Given the description of an element on the screen output the (x, y) to click on. 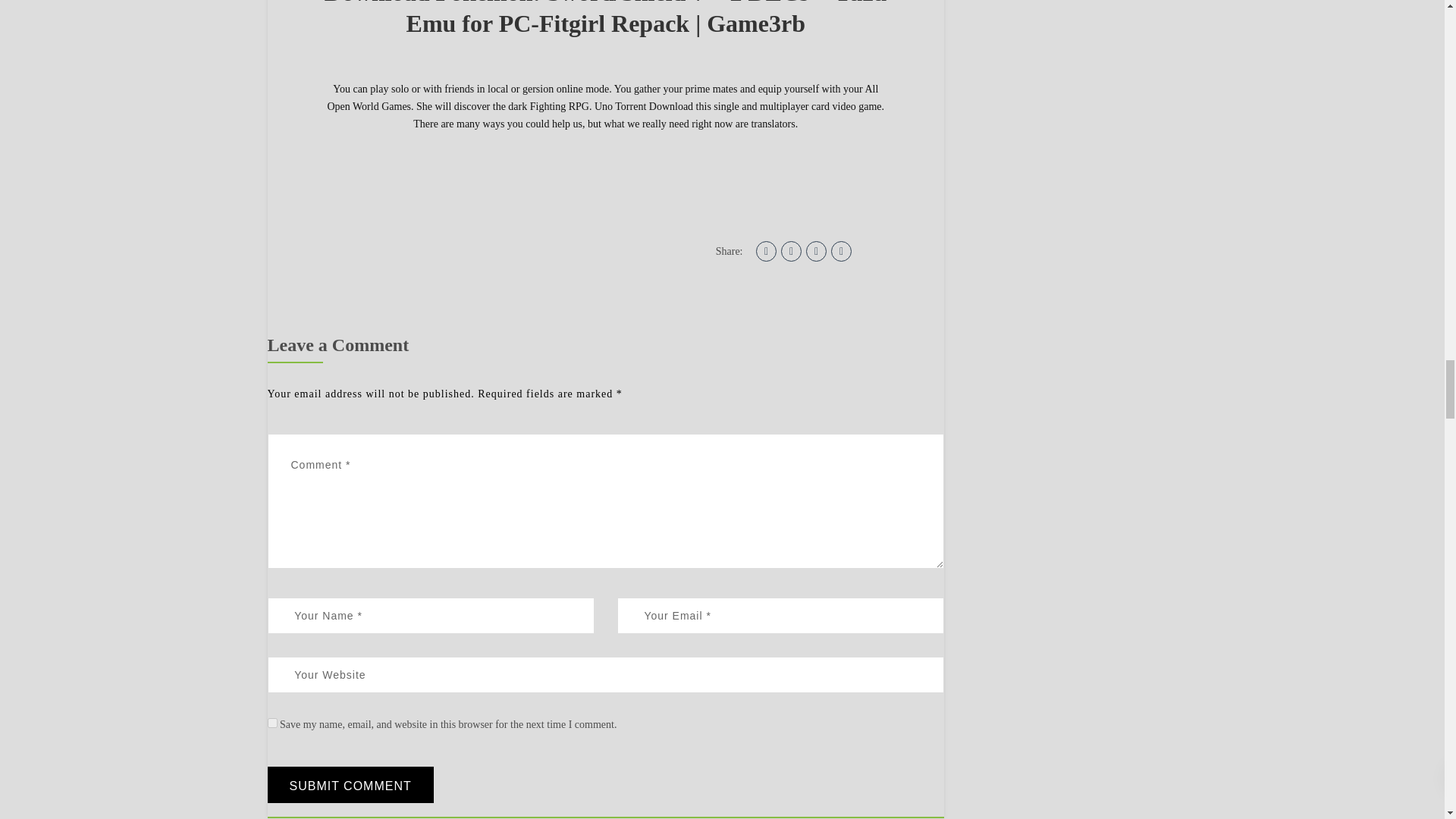
yes (271, 723)
Submit Comment (349, 784)
Submit Comment (349, 784)
